Given the description of an element on the screen output the (x, y) to click on. 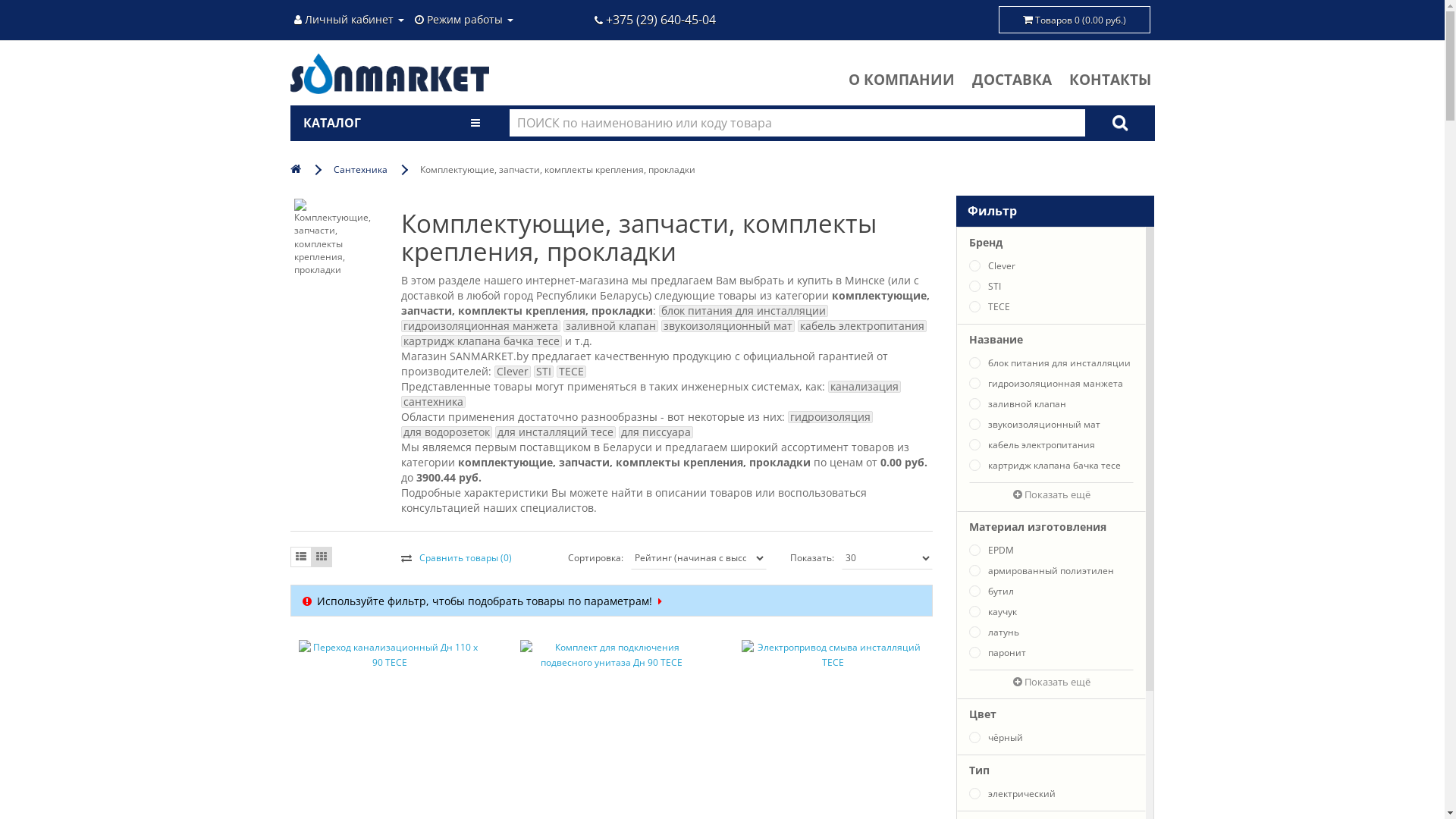
+375 (29) 640-45-04 Element type: text (654, 19)
SANMARKET.BY Element type: hover (389, 73)
